Given the description of an element on the screen output the (x, y) to click on. 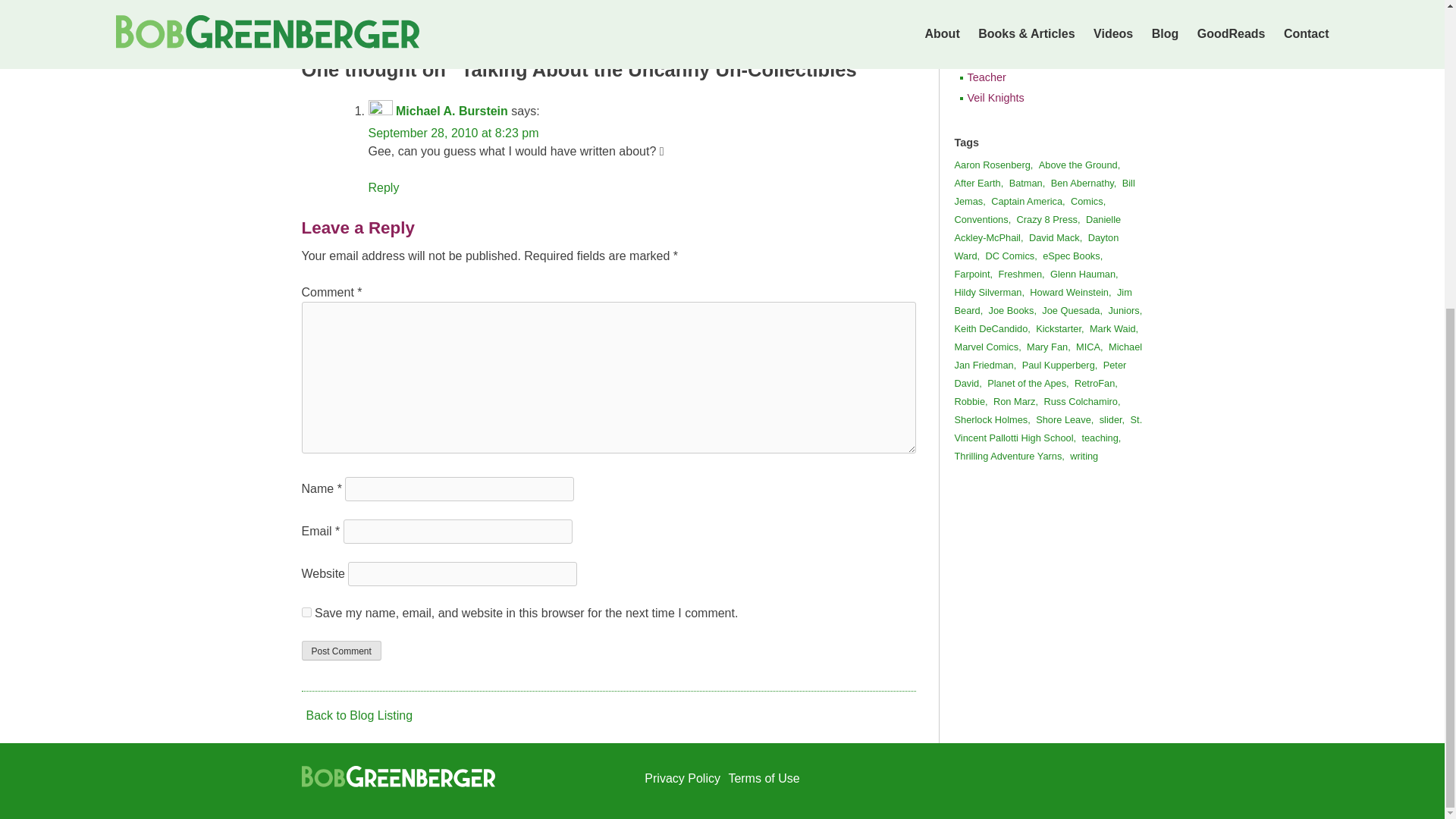
yes (306, 612)
Reply (383, 187)
Post Comment (341, 650)
Post Comment (341, 650)
Miscellaneous (1044, 35)
September 28, 2010 at 8:23 pm (453, 132)
Star Trek (1044, 56)
Back to Blog Listing (357, 715)
Atlantis Chronicles (437, 11)
Veil Knights (1044, 97)
